Given the description of an element on the screen output the (x, y) to click on. 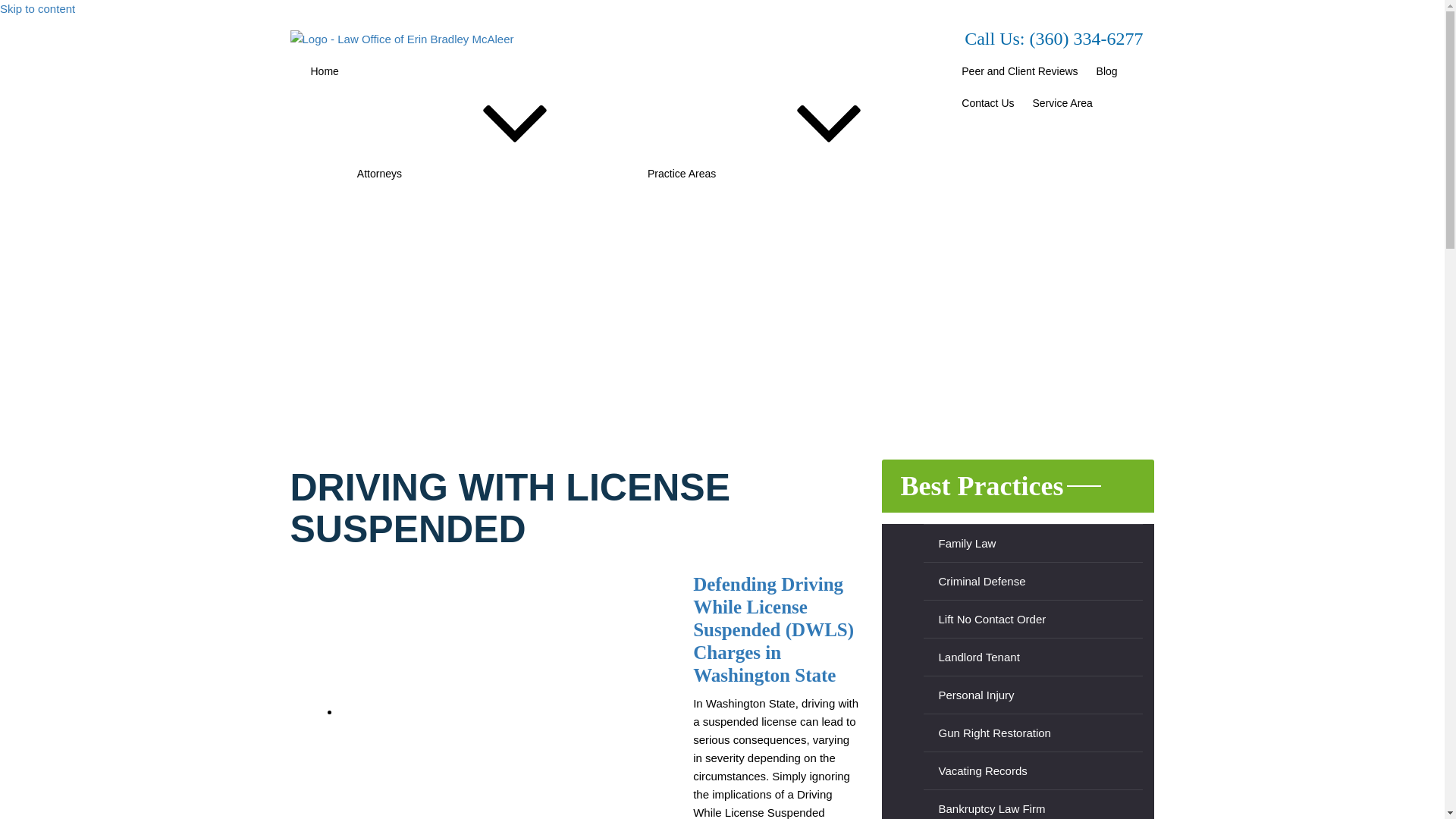
Attorneys (492, 122)
Home (325, 71)
Skip to content (37, 8)
Practice Areas (795, 122)
Logo (401, 39)
